Given the description of an element on the screen output the (x, y) to click on. 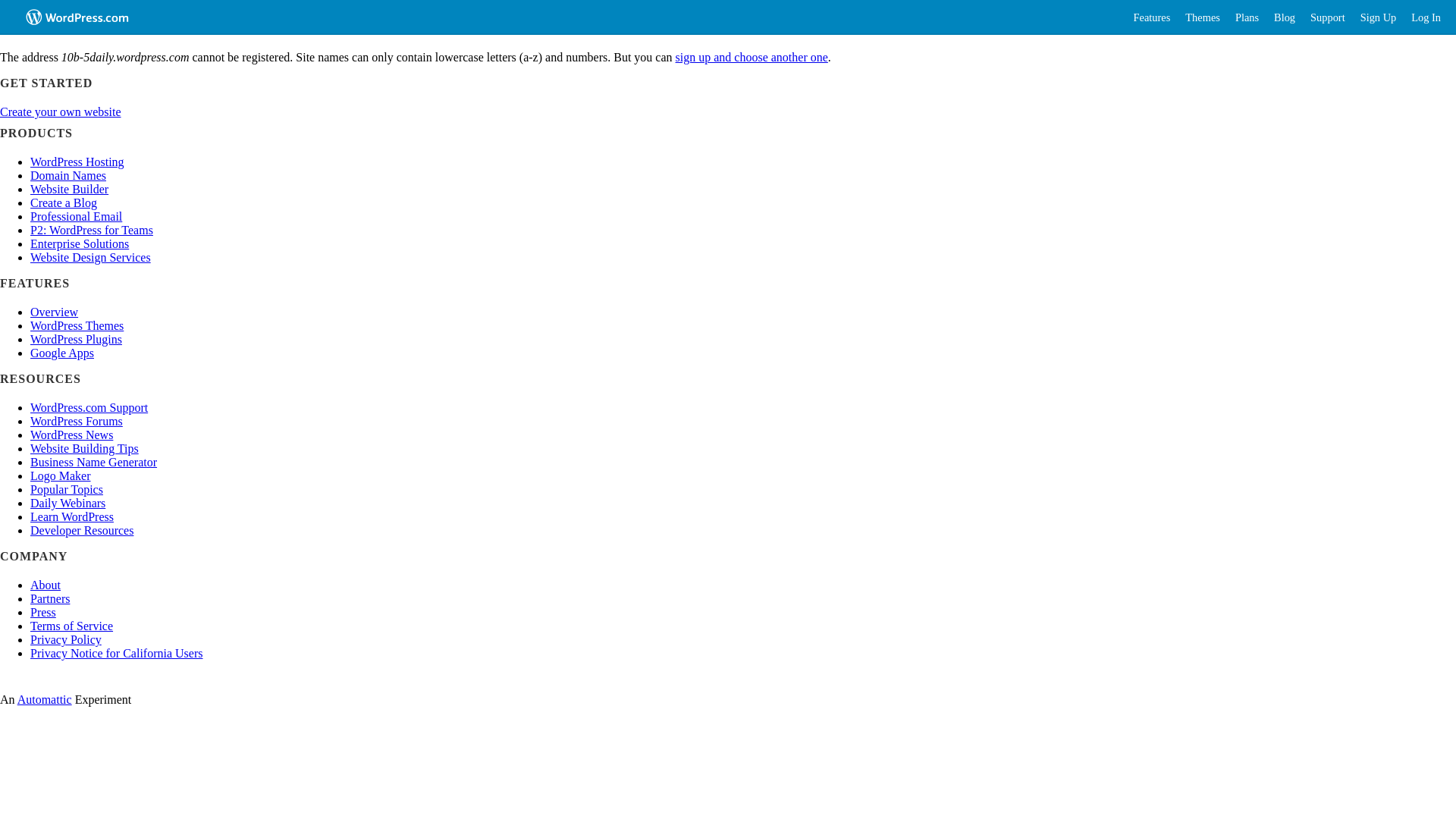
WordPress.com Support Element type: text (88, 407)
Partners Element type: text (49, 598)
Professional Email Element type: text (76, 216)
Features Element type: text (1152, 17)
Support Element type: text (1327, 17)
Business Name Generator Element type: text (93, 461)
Overview Element type: text (54, 311)
Popular Topics Element type: text (66, 489)
WordPress Plugins Element type: text (76, 338)
Plans Element type: text (1246, 17)
Domain Names Element type: text (68, 175)
Terms of Service Element type: text (71, 625)
About Element type: text (45, 584)
P2: WordPress for Teams Element type: text (91, 229)
Learn WordPress Element type: text (71, 516)
WordPress Themes Element type: text (76, 325)
WordPress Hosting Element type: text (77, 161)
WordPress News Element type: text (71, 434)
Blog Element type: text (1284, 17)
Privacy Policy Element type: text (65, 639)
Log In Element type: text (1425, 17)
WordPress Forums Element type: text (76, 420)
Press Element type: text (43, 611)
Sign Up Element type: text (1378, 17)
Create your own website Element type: text (60, 111)
Website Design Services Element type: text (90, 257)
sign up and choose another one Element type: text (751, 56)
Developer Resources Element type: text (81, 530)
Create a Blog Element type: text (63, 202)
Themes Element type: text (1202, 17)
Enterprise Solutions Element type: text (79, 243)
Privacy Notice for California Users Element type: text (116, 652)
Daily Webinars Element type: text (67, 502)
Google Apps Element type: text (62, 352)
Logo Maker Element type: text (60, 475)
Website Building Tips Element type: text (84, 448)
Website Builder Element type: text (69, 188)
Automattic Element type: text (44, 699)
